Given the description of an element on the screen output the (x, y) to click on. 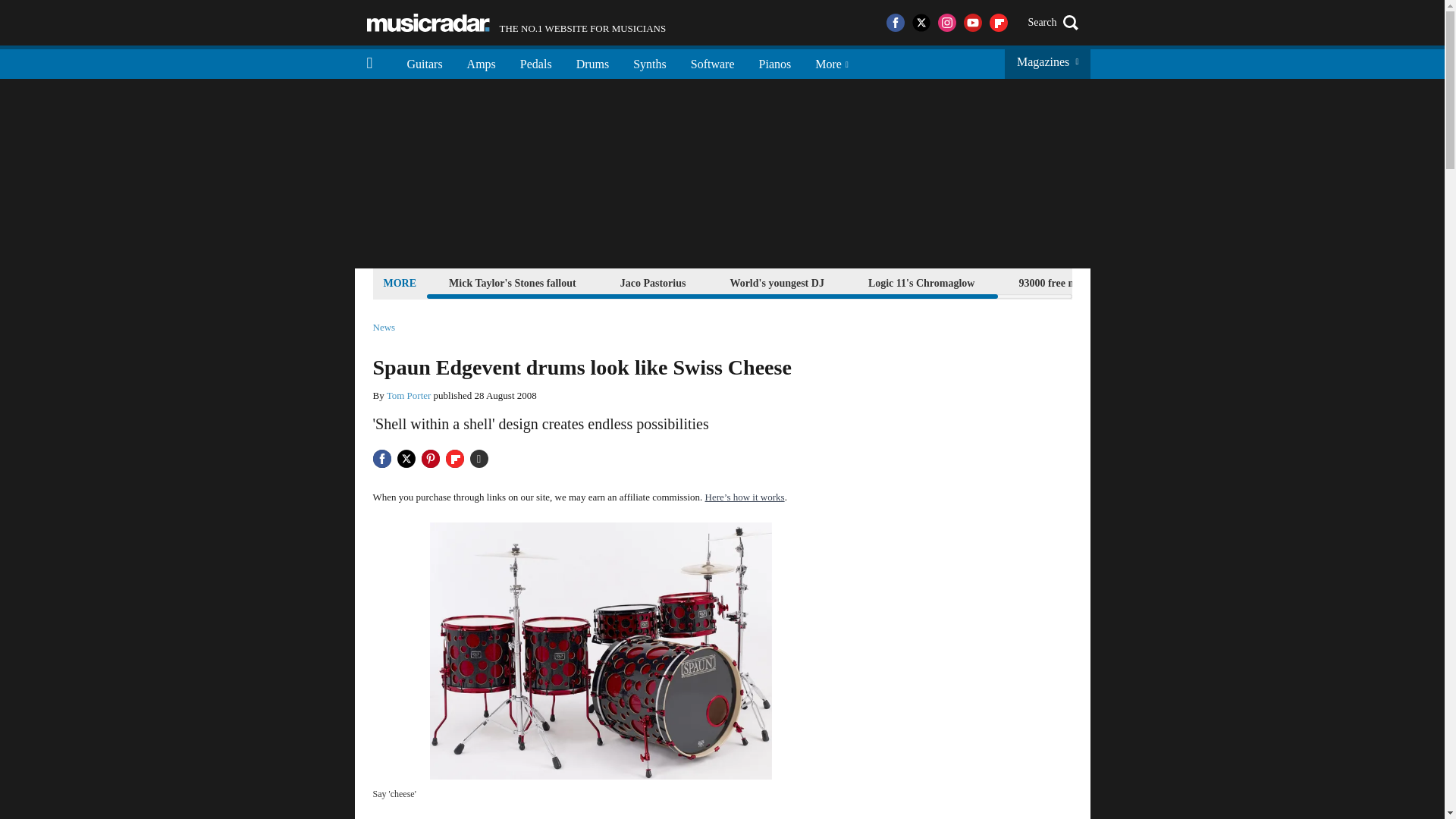
Amps (481, 61)
Software (712, 61)
Guitars (424, 61)
Music Radar (427, 22)
93000 free music samples (1075, 282)
Pedals (536, 61)
Mick Taylor's Stones fallout (512, 282)
World's youngest DJ (775, 282)
Drums (516, 22)
Jaco Pastorius (592, 61)
Pianos (652, 282)
Logic 11's Chromaglow (774, 61)
Synths (921, 282)
